Given the description of an element on the screen output the (x, y) to click on. 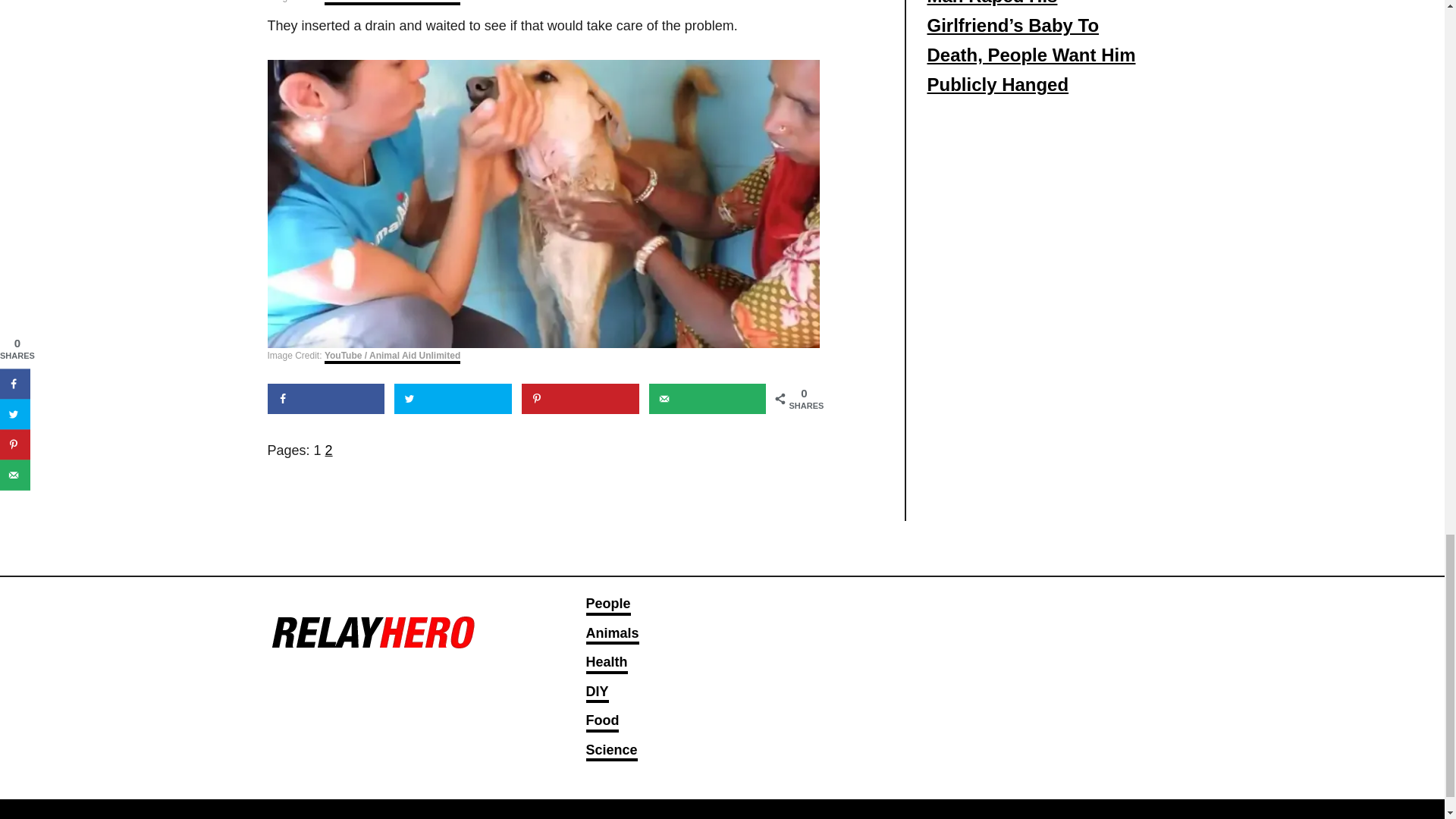
DIY (596, 693)
People (607, 605)
Share on Facebook (325, 399)
Save to Pinterest (580, 399)
Share on Twitter (453, 399)
Send over email (708, 399)
Animals (612, 634)
Health (606, 663)
